Given the description of an element on the screen output the (x, y) to click on. 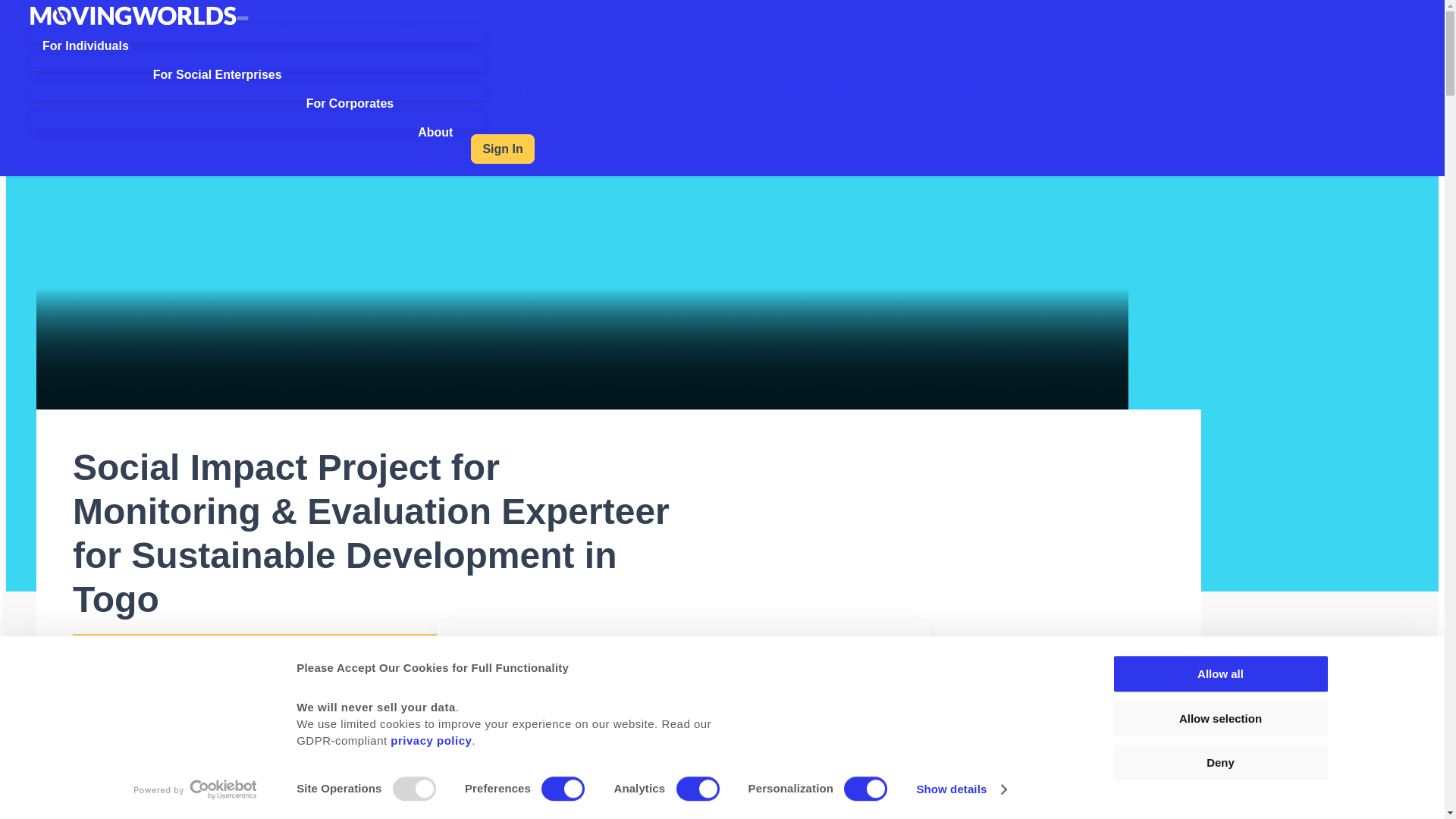
privacy policy (430, 739)
Show details (960, 789)
MovingWorlds Privacy Policy (430, 739)
